Given the description of an element on the screen output the (x, y) to click on. 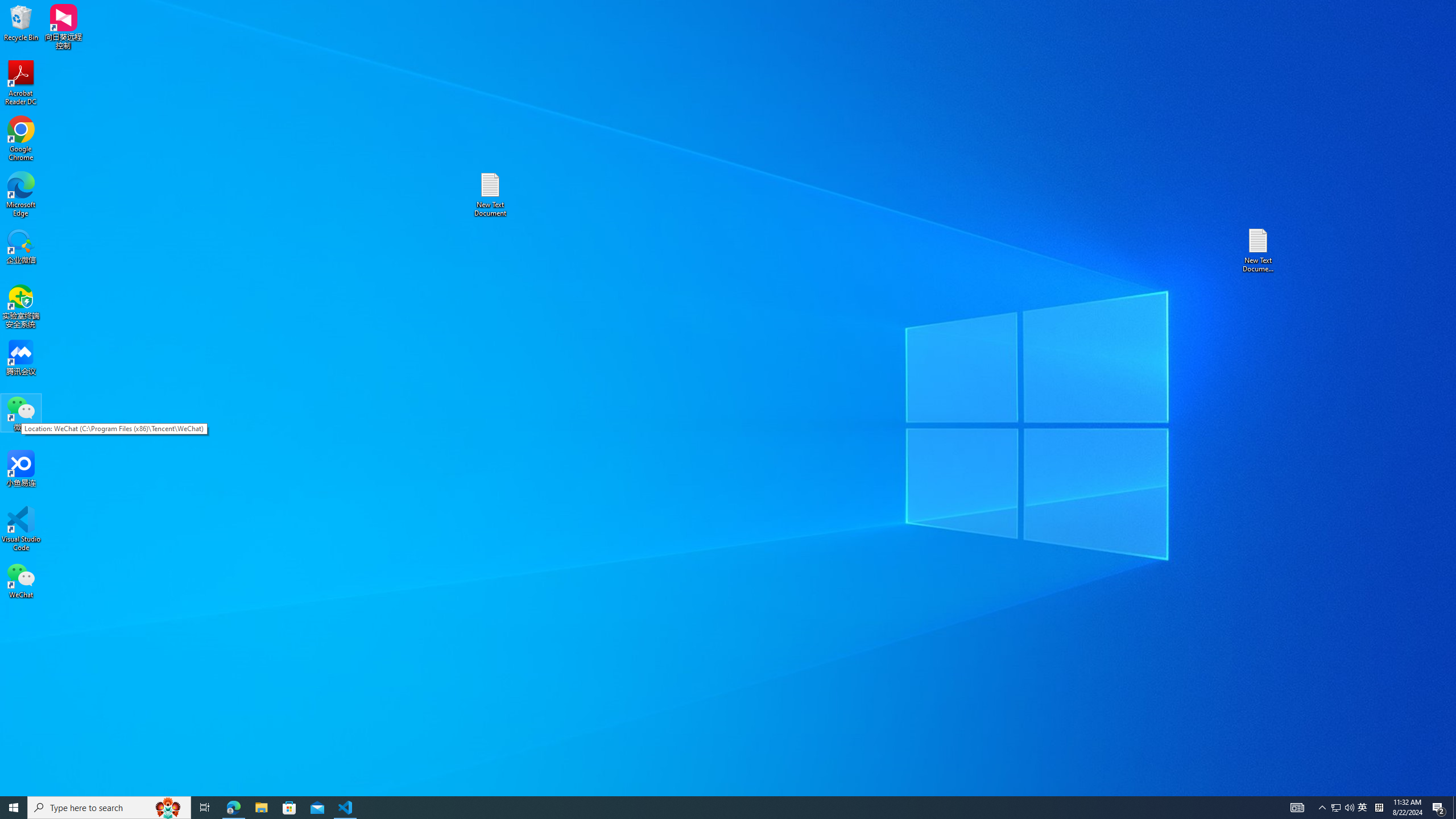
New Text Document (489, 194)
Microsoft Edge (21, 194)
